Given the description of an element on the screen output the (x, y) to click on. 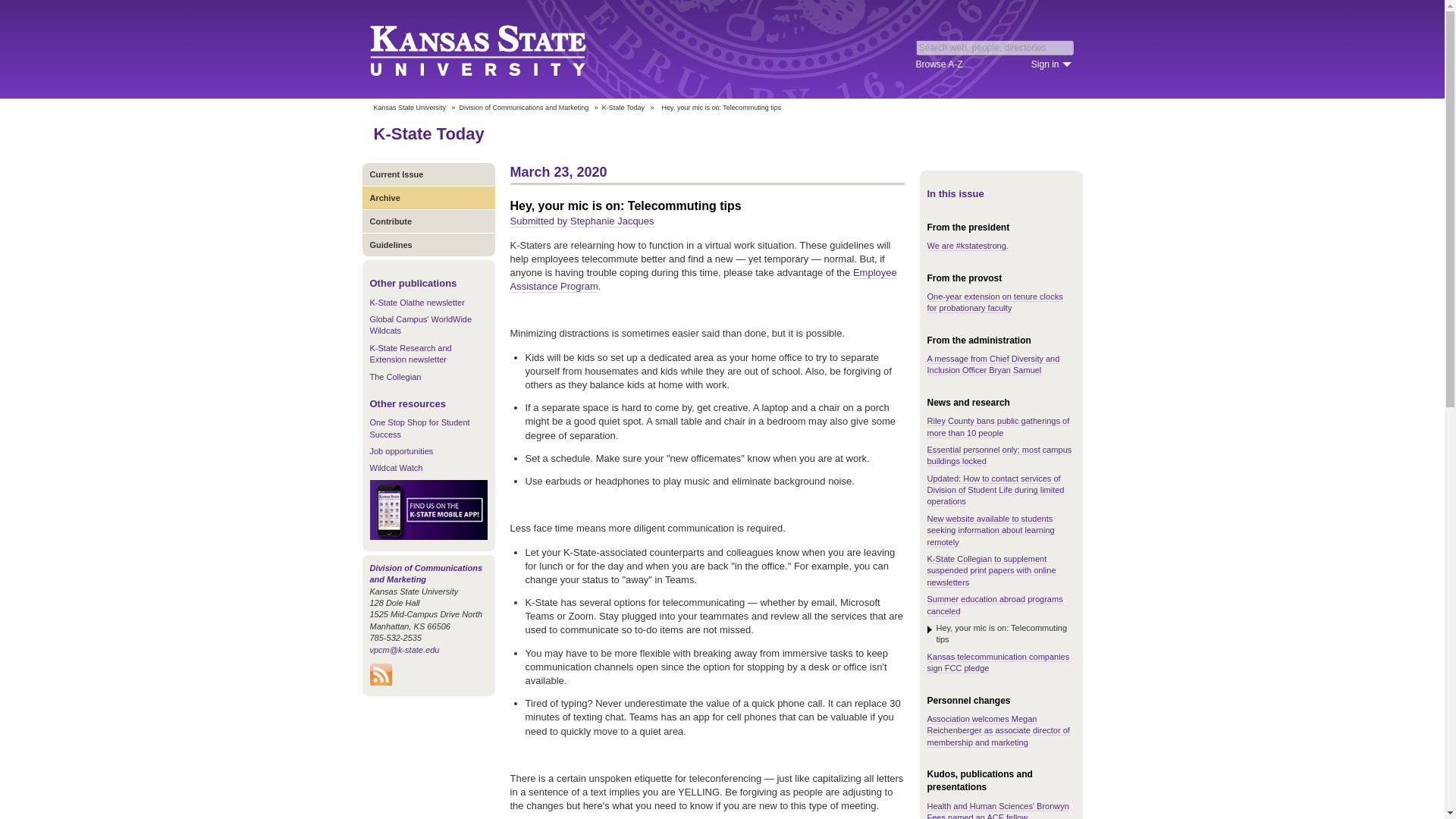
K-State Today (427, 133)
Global Campus' WorldWide Wildcats (420, 324)
Kansas State University (496, 49)
Search web, people, directories (994, 47)
Current Issue (428, 173)
Contribute (428, 220)
Submitted by Stephanie Jacques (581, 221)
K-State Today (623, 107)
